Given the description of an element on the screen output the (x, y) to click on. 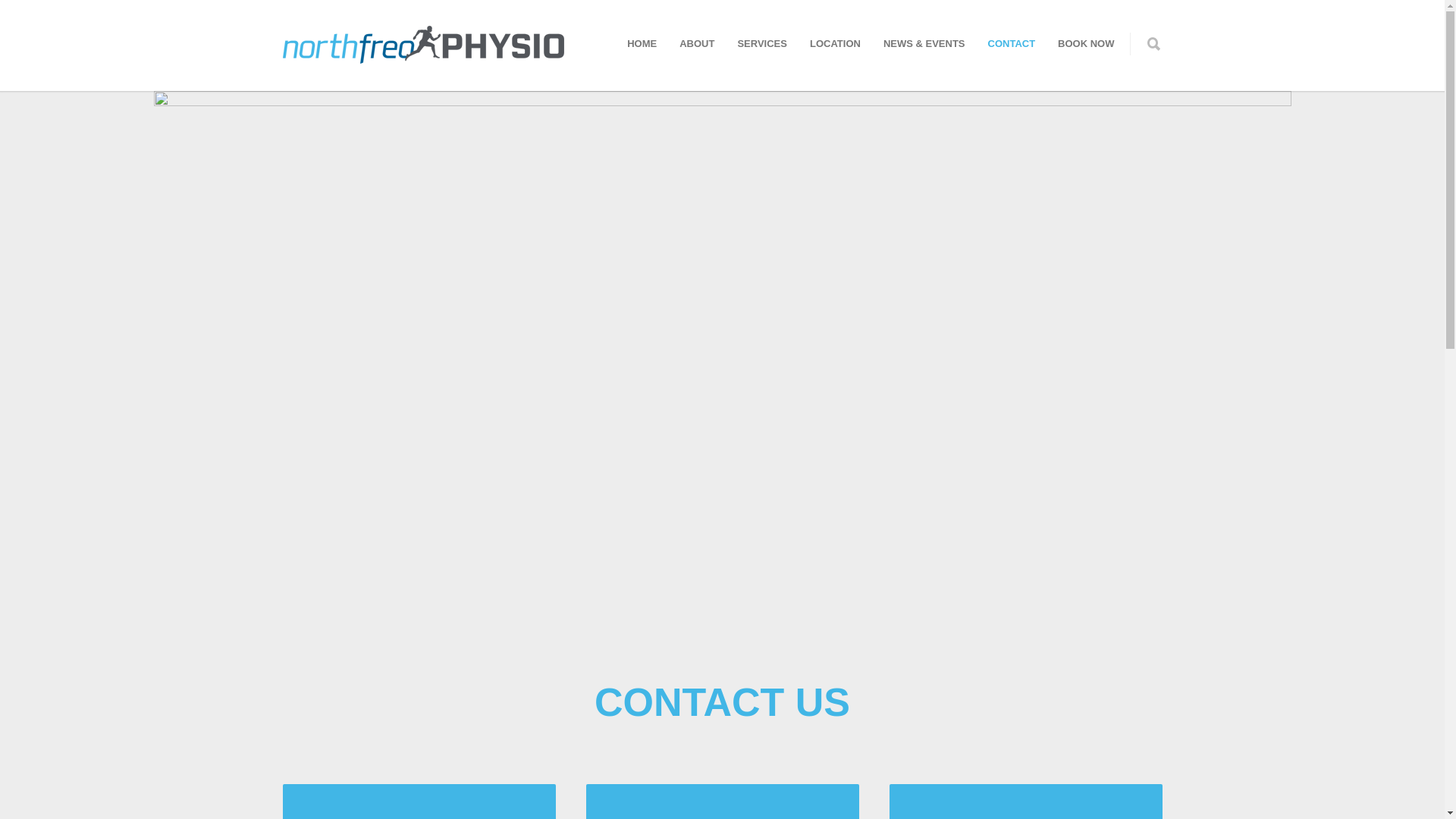
SERVICES Element type: text (761, 43)
NEWS & EVENTS Element type: text (924, 43)
CONTACT Element type: text (1011, 43)
ABOUT Element type: text (696, 43)
HOME Element type: text (641, 43)
BOOK NOW Element type: text (1085, 43)
LOCATION Element type: text (835, 43)
